Given the description of an element on the screen output the (x, y) to click on. 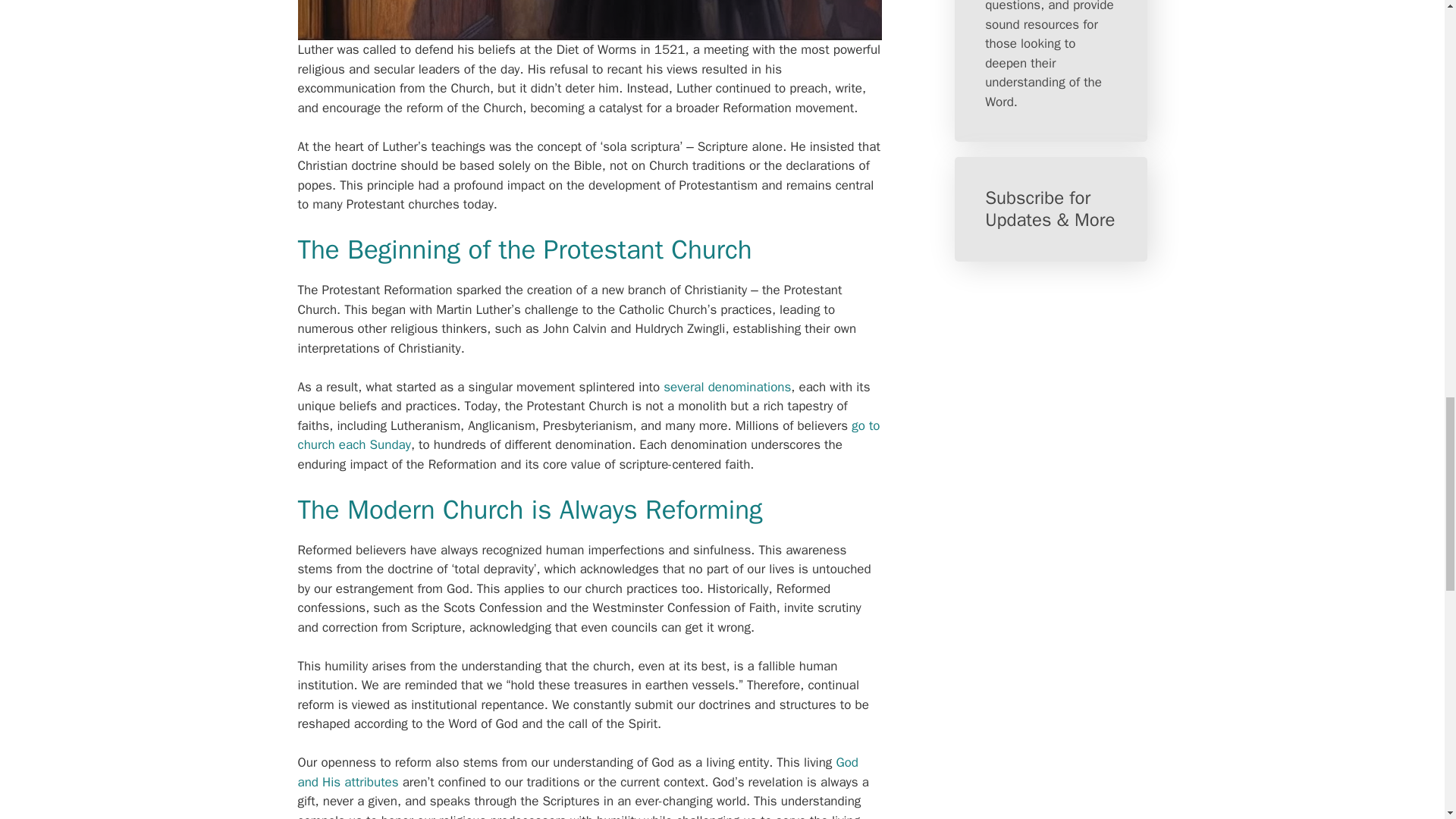
God and His attributes (577, 772)
several denominations (726, 386)
go to church each Sunday (588, 435)
